Given the description of an element on the screen output the (x, y) to click on. 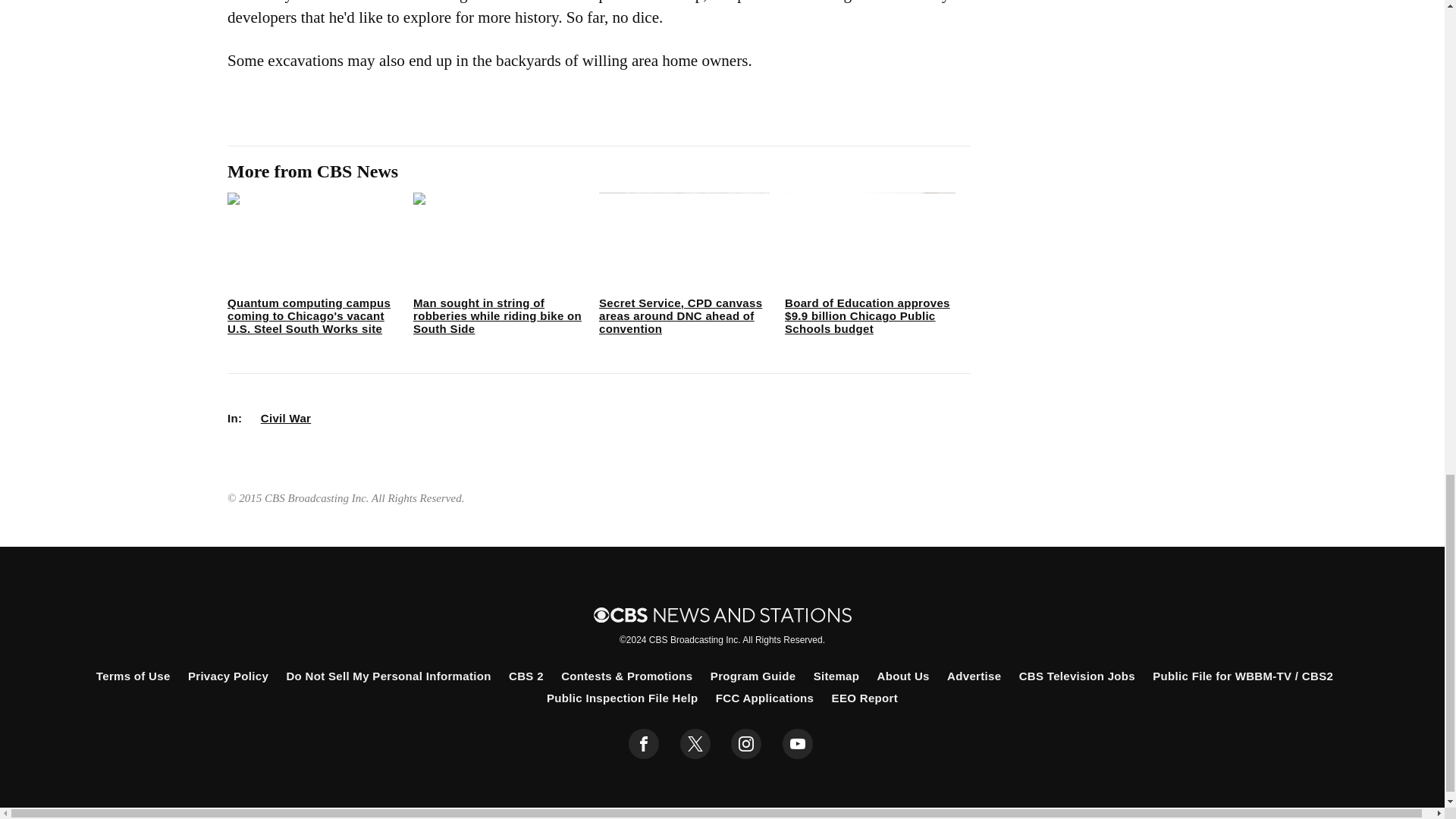
instagram (745, 743)
twitter (694, 743)
youtube (797, 743)
facebook (643, 743)
